Given the description of an element on the screen output the (x, y) to click on. 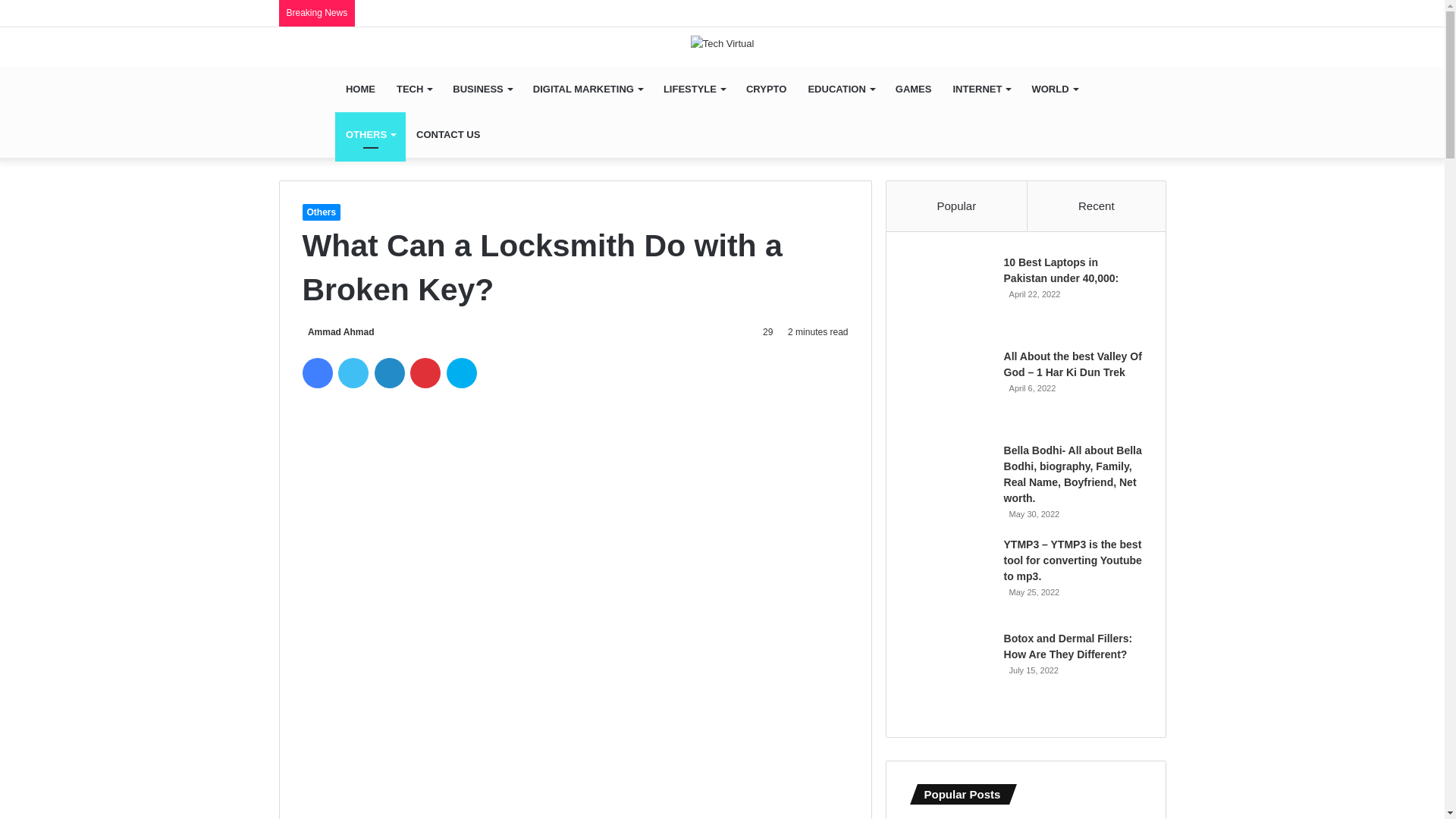
Facebook (316, 372)
CONTACT US (448, 135)
TECH (413, 89)
Pinterest (425, 372)
OTHERS (370, 135)
DIGITAL MARKETING (587, 89)
Skype (461, 372)
CRYPTO (765, 89)
INTERNET (981, 89)
Ammad Ahmad (337, 331)
Twitter (352, 372)
HOME (359, 89)
EDUCATION (839, 89)
WORLD (1053, 89)
